Given the description of an element on the screen output the (x, y) to click on. 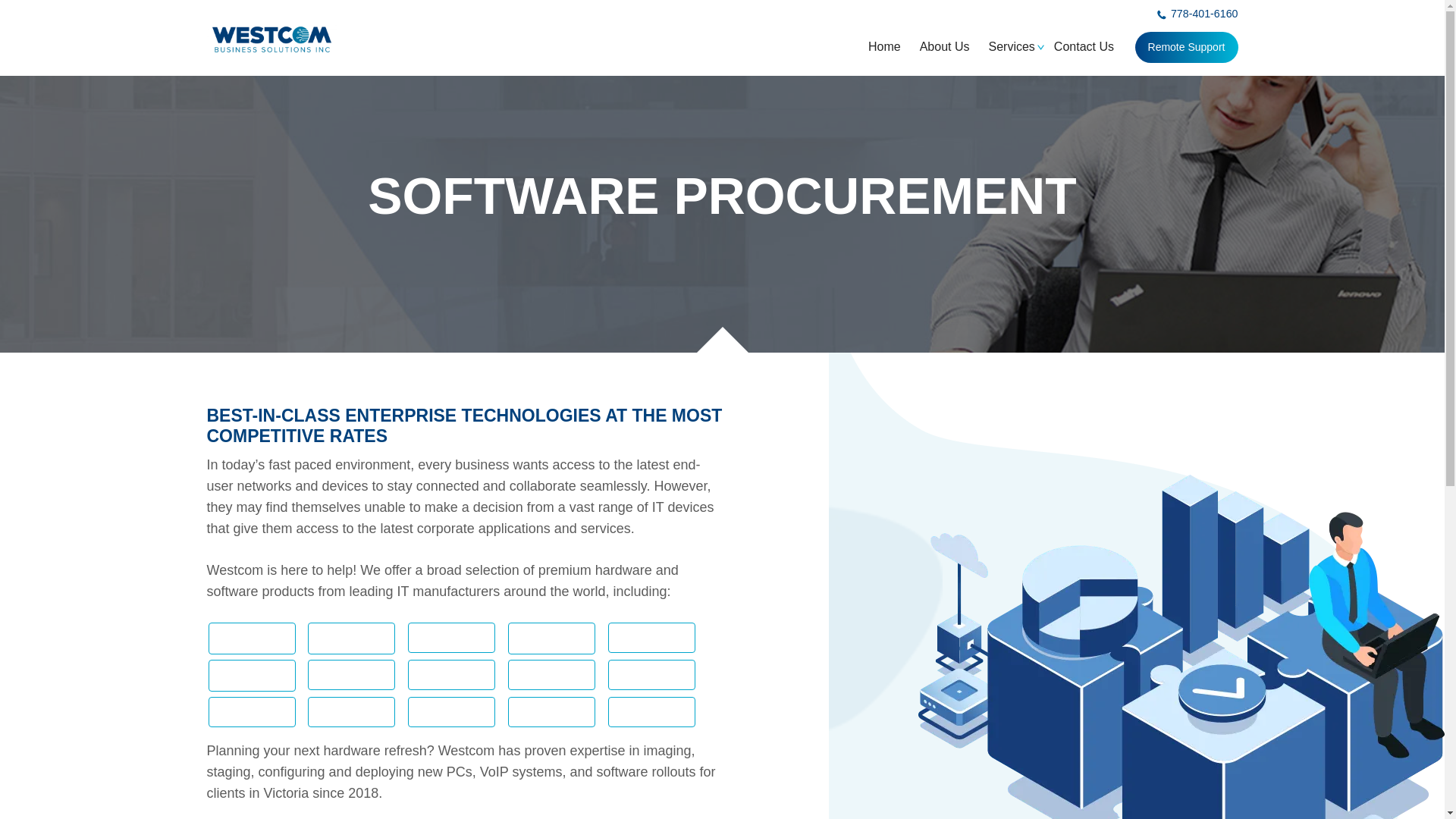
Remote Support (1185, 47)
About Us (944, 46)
Contact Us (1082, 46)
778-401-6160 (1198, 14)
Services (1010, 46)
Home (884, 46)
